Given the description of an element on the screen output the (x, y) to click on. 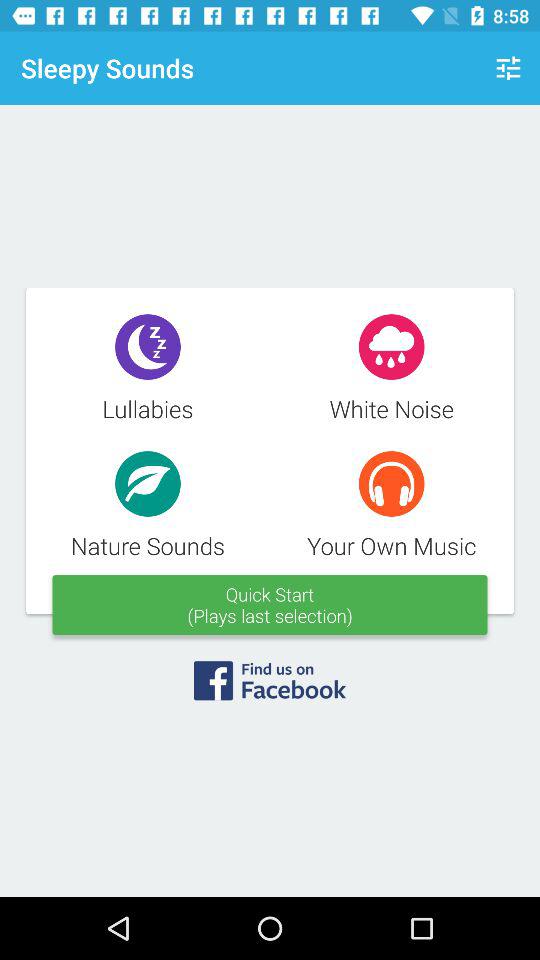
choose icon above the your own music item (508, 67)
